Given the description of an element on the screen output the (x, y) to click on. 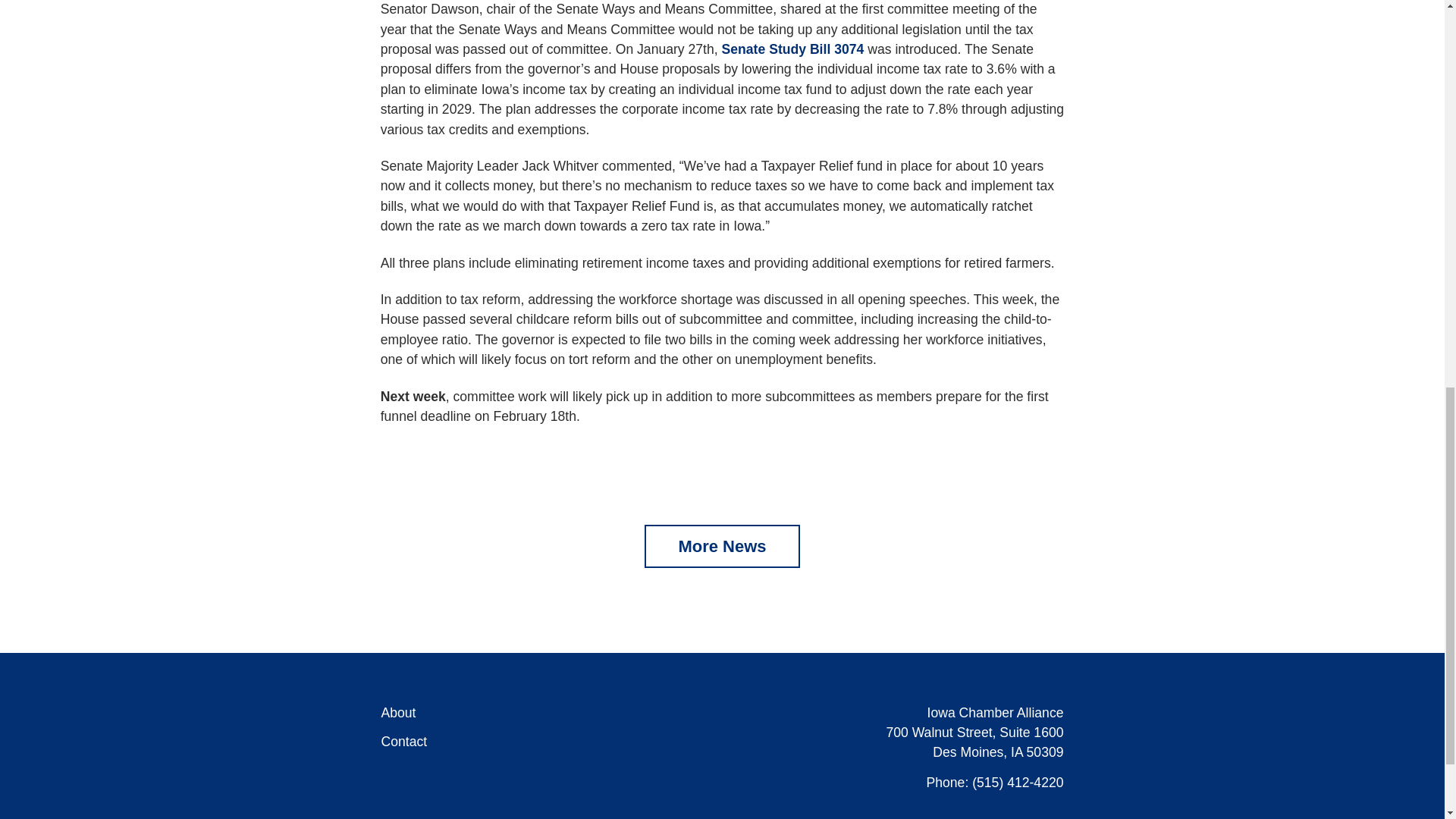
About (397, 713)
More News (722, 546)
Senate Study Bill 3074 (793, 48)
Contact (403, 742)
